Given the description of an element on the screen output the (x, y) to click on. 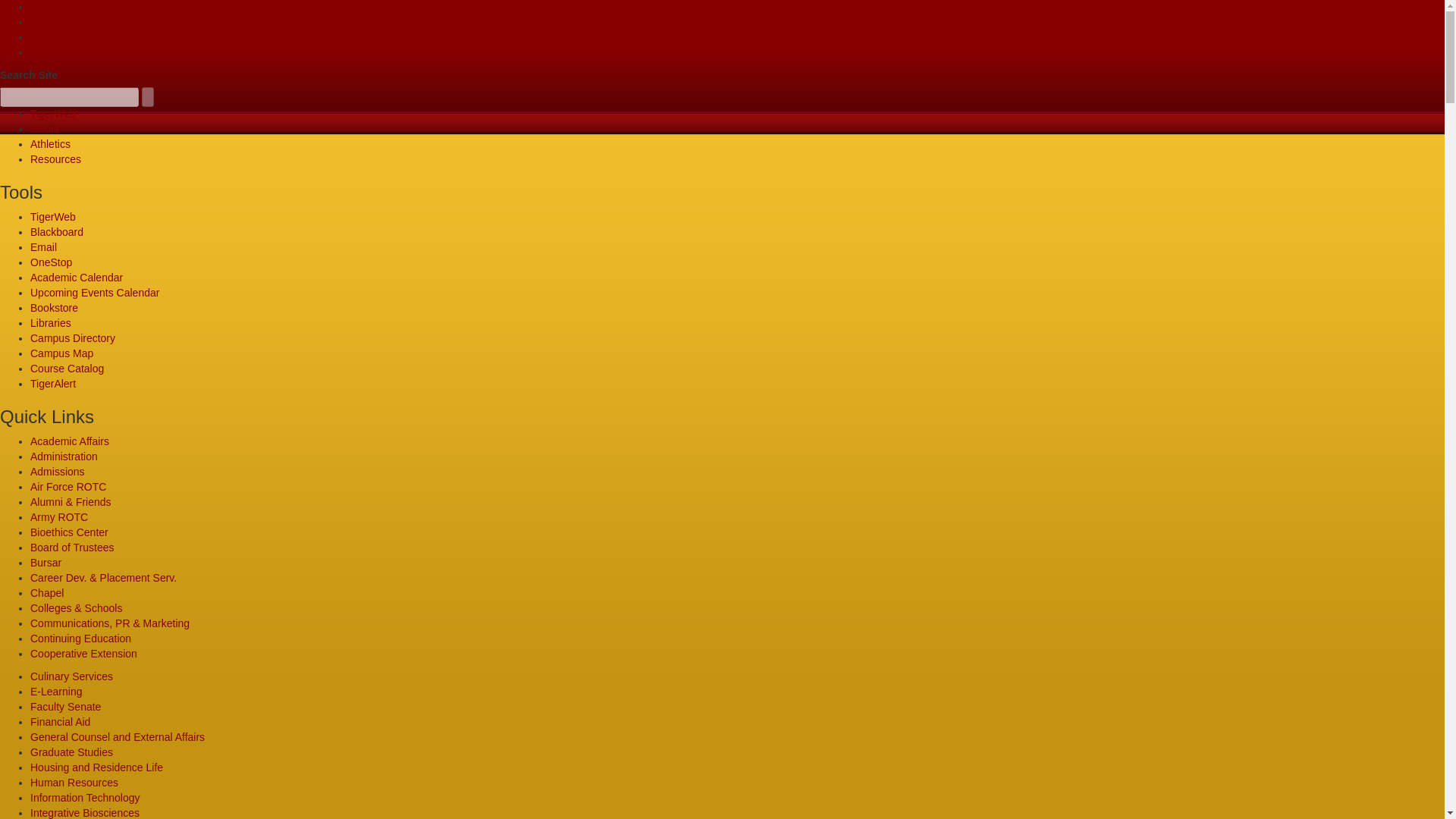
Financial Aid (60, 721)
Pay (39, 51)
Upcoming Events Calendar (94, 292)
Email (43, 246)
Apply (43, 6)
Visit (39, 37)
Campus Directory (72, 337)
Board of Trustees (72, 547)
Admissions (57, 471)
TigerWeb (52, 216)
Bioethics Center (68, 532)
E-Learning (56, 691)
Academic Affairs (69, 440)
Libraries (50, 322)
Air Force ROTC (68, 486)
